Given the description of an element on the screen output the (x, y) to click on. 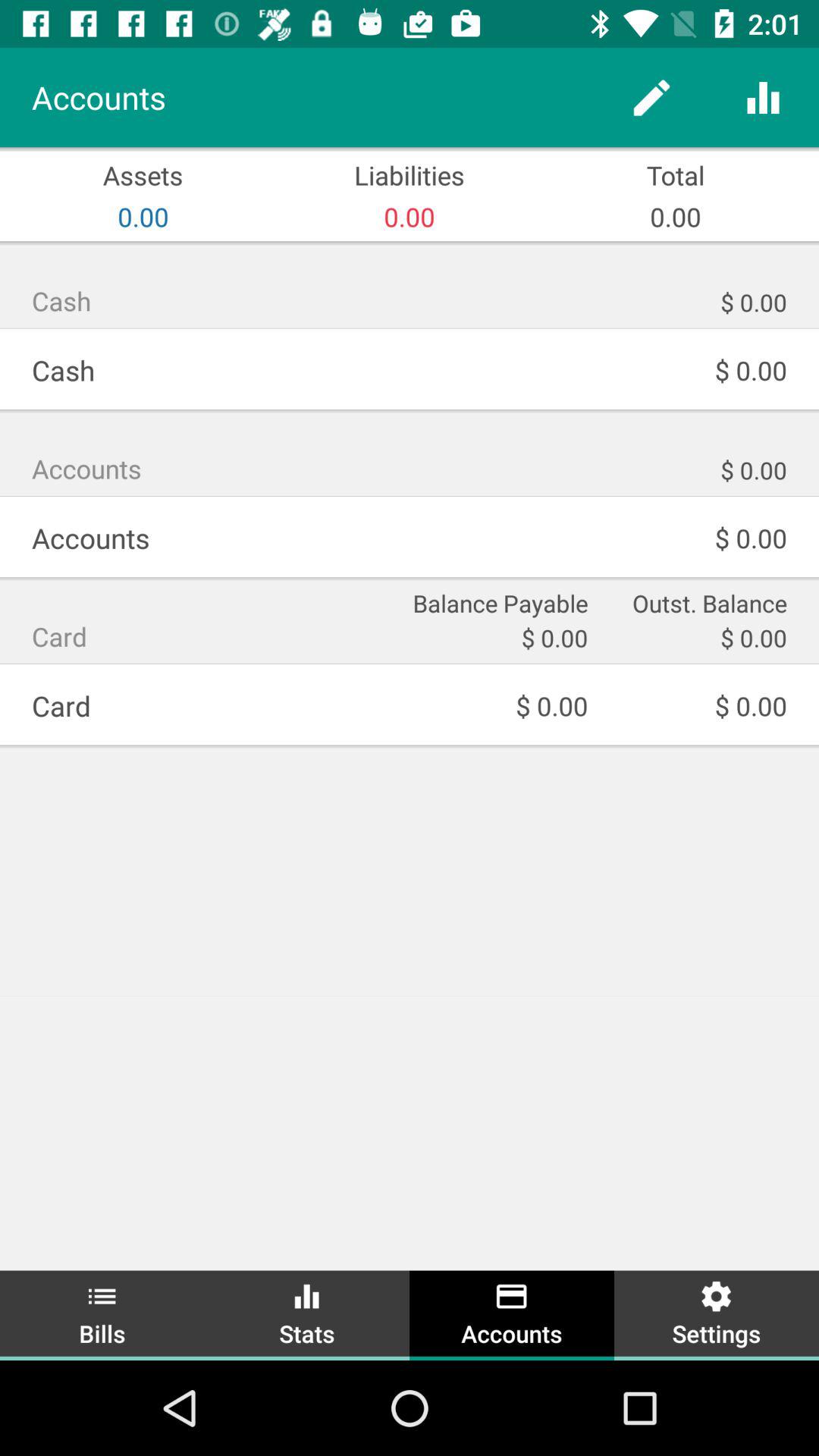
edit the text (651, 97)
